Given the description of an element on the screen output the (x, y) to click on. 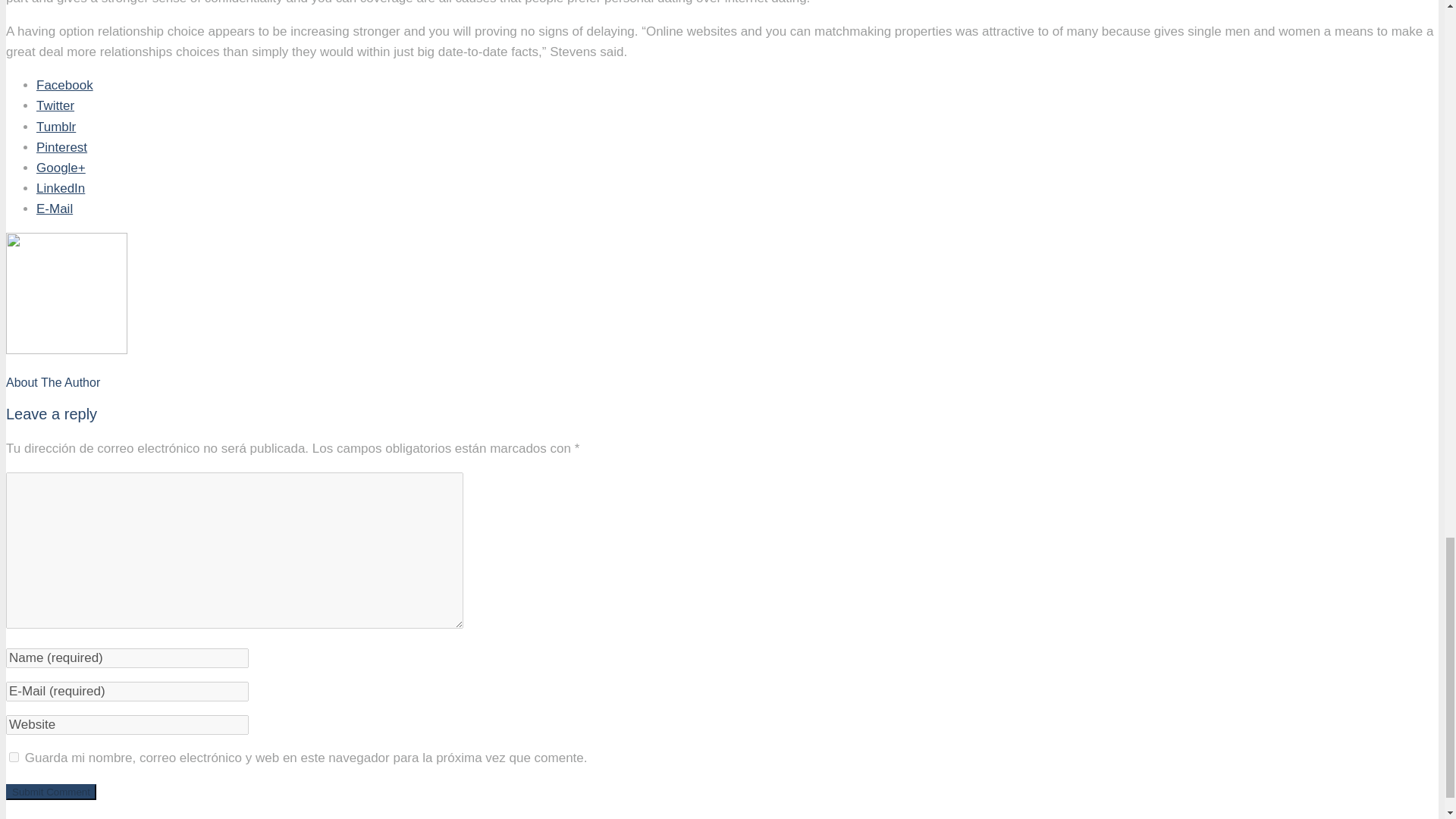
Submit Comment (50, 791)
yes (13, 757)
Share via Tumblr (55, 126)
Share via Pinterest (61, 147)
Share via Facebook (64, 84)
Facebook (64, 84)
Submit Comment (50, 791)
Twitter (55, 105)
Share via E-Mail (54, 208)
LinkedIn (60, 187)
